Given the description of an element on the screen output the (x, y) to click on. 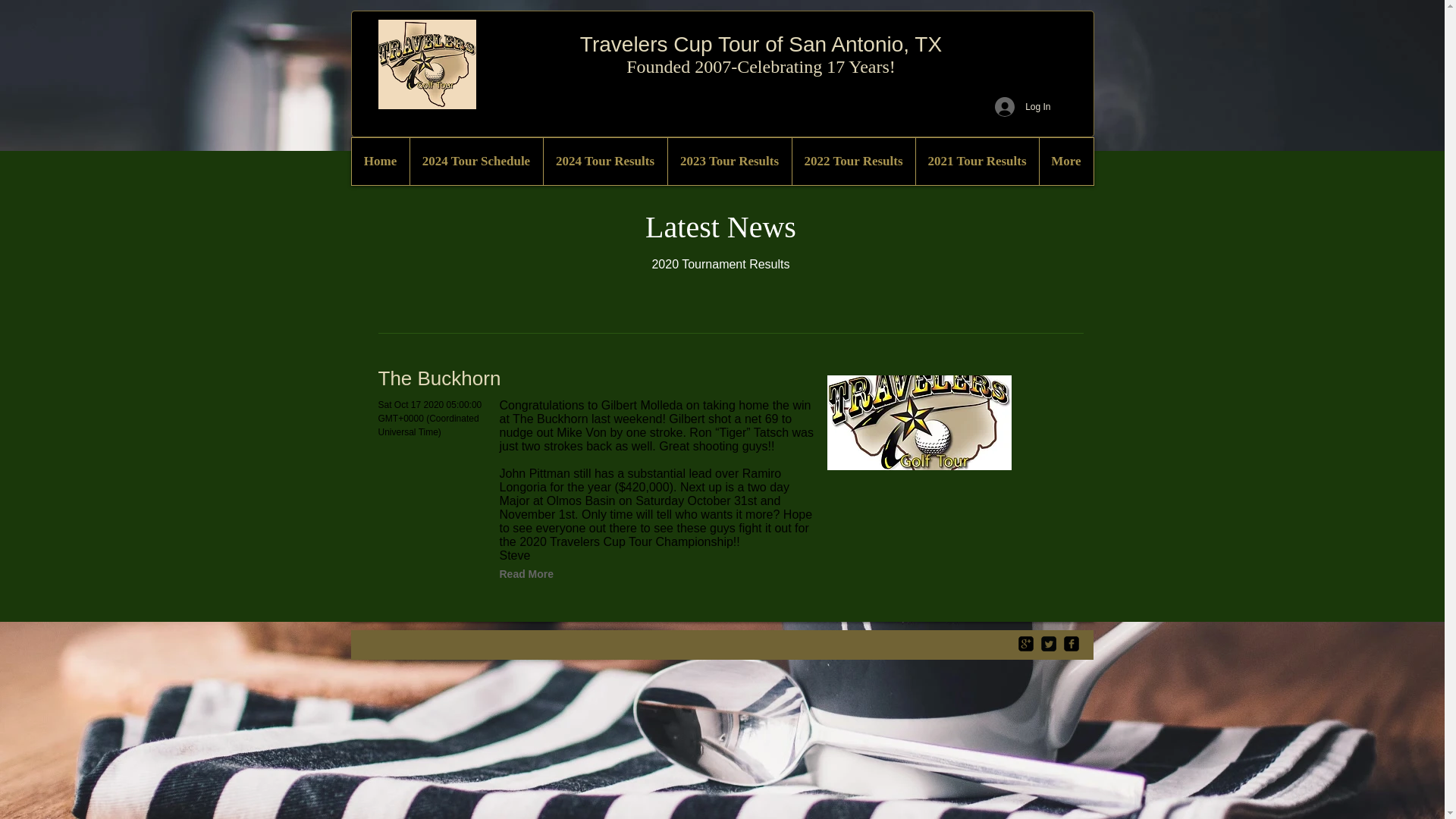
Home (380, 161)
2021 Tour Results (976, 161)
2024 Tour Results (604, 161)
2023 Tour Results (729, 161)
2022 Tour Results (853, 161)
Log In (1022, 106)
2024 Tour Schedule (476, 161)
